Given the description of an element on the screen output the (x, y) to click on. 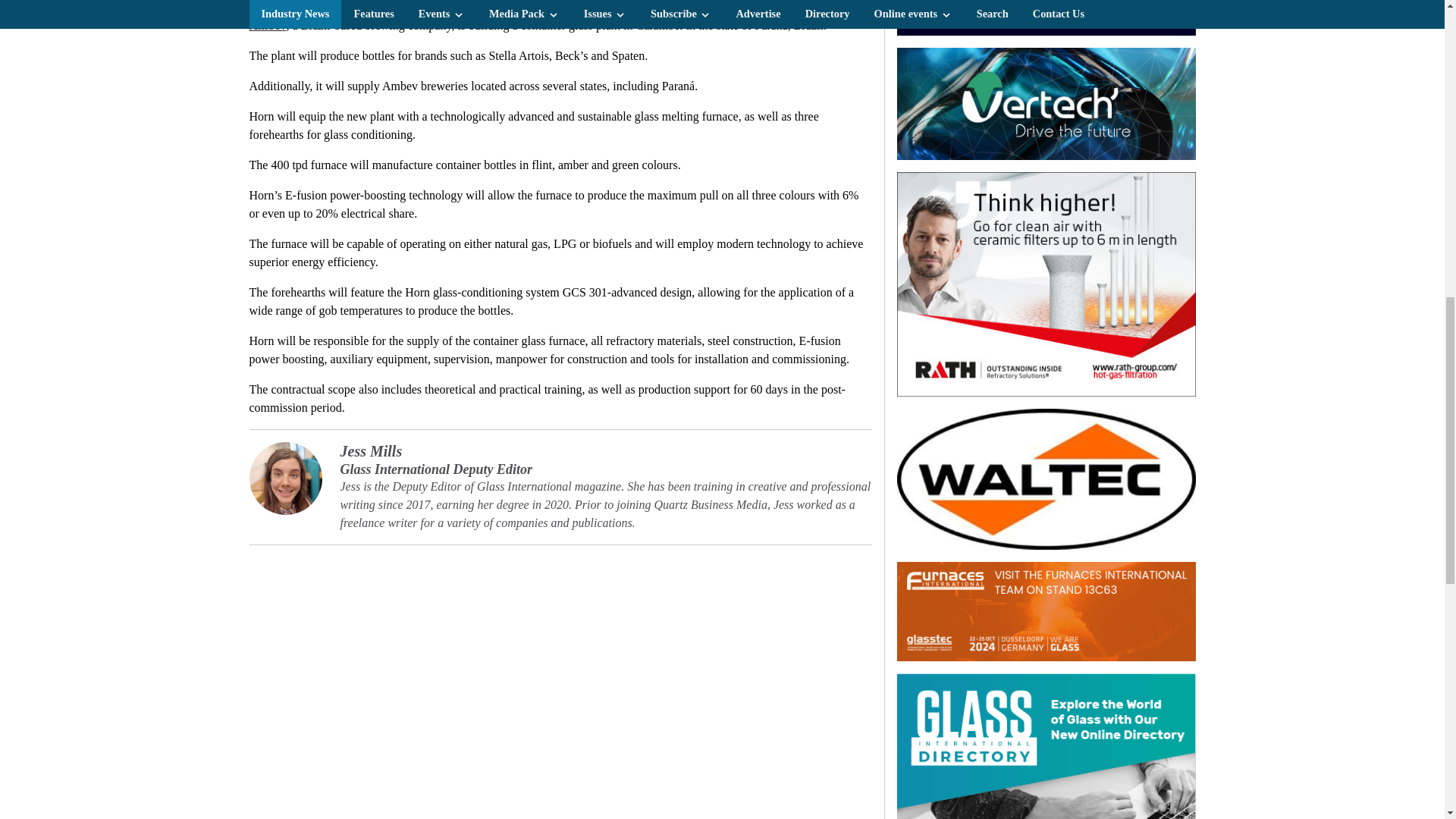
Siemens (1045, 18)
Furnaces International (1045, 610)
Glass International Directory (1045, 746)
Waltec (1045, 478)
Vertech (1045, 103)
RATH (1045, 283)
